Given the description of an element on the screen output the (x, y) to click on. 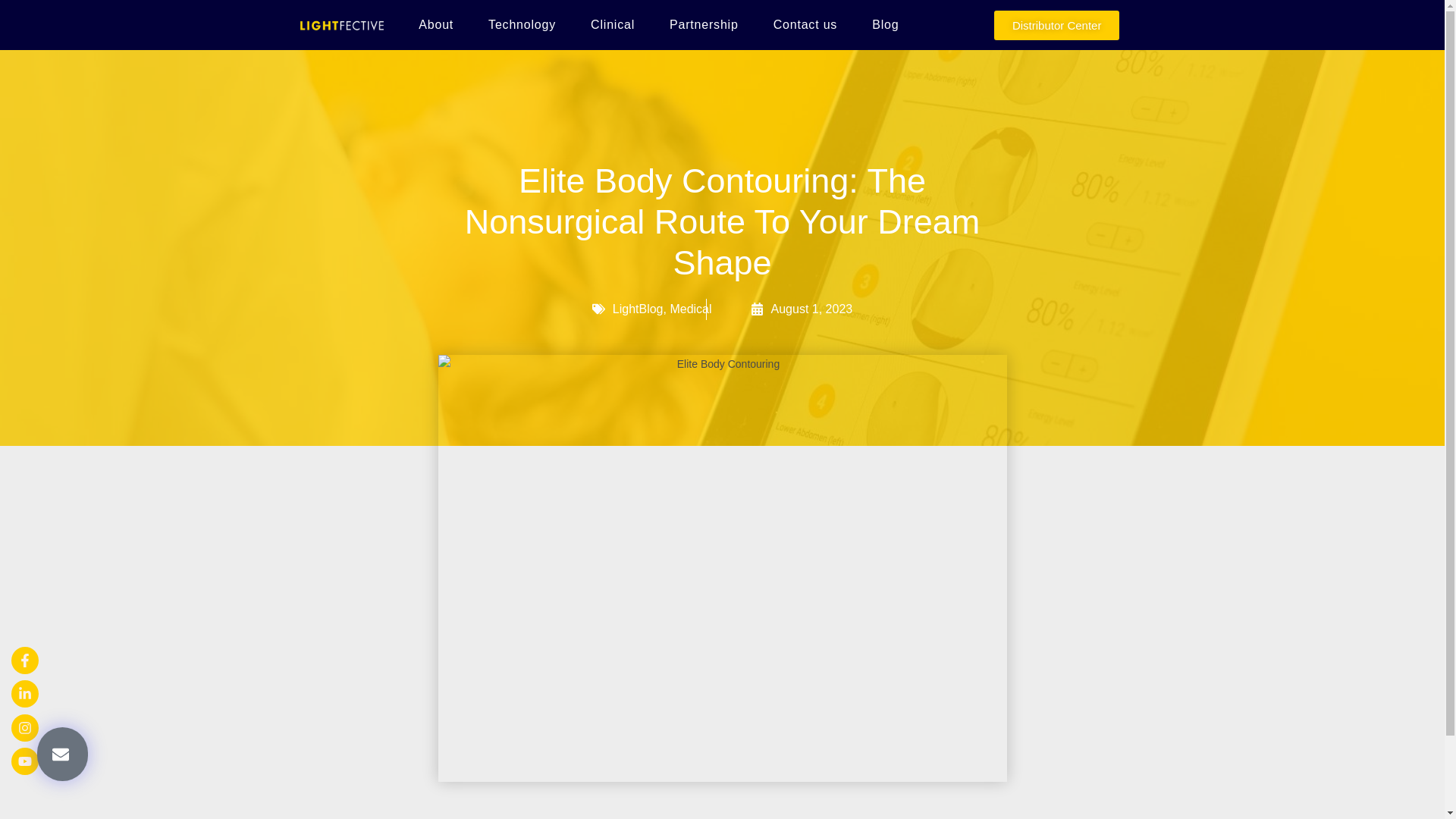
Partnership (703, 24)
About (435, 24)
Blog (884, 24)
Contact us (804, 24)
Technology (521, 24)
Distributor Center (1056, 25)
Clinical (612, 24)
